Given the description of an element on the screen output the (x, y) to click on. 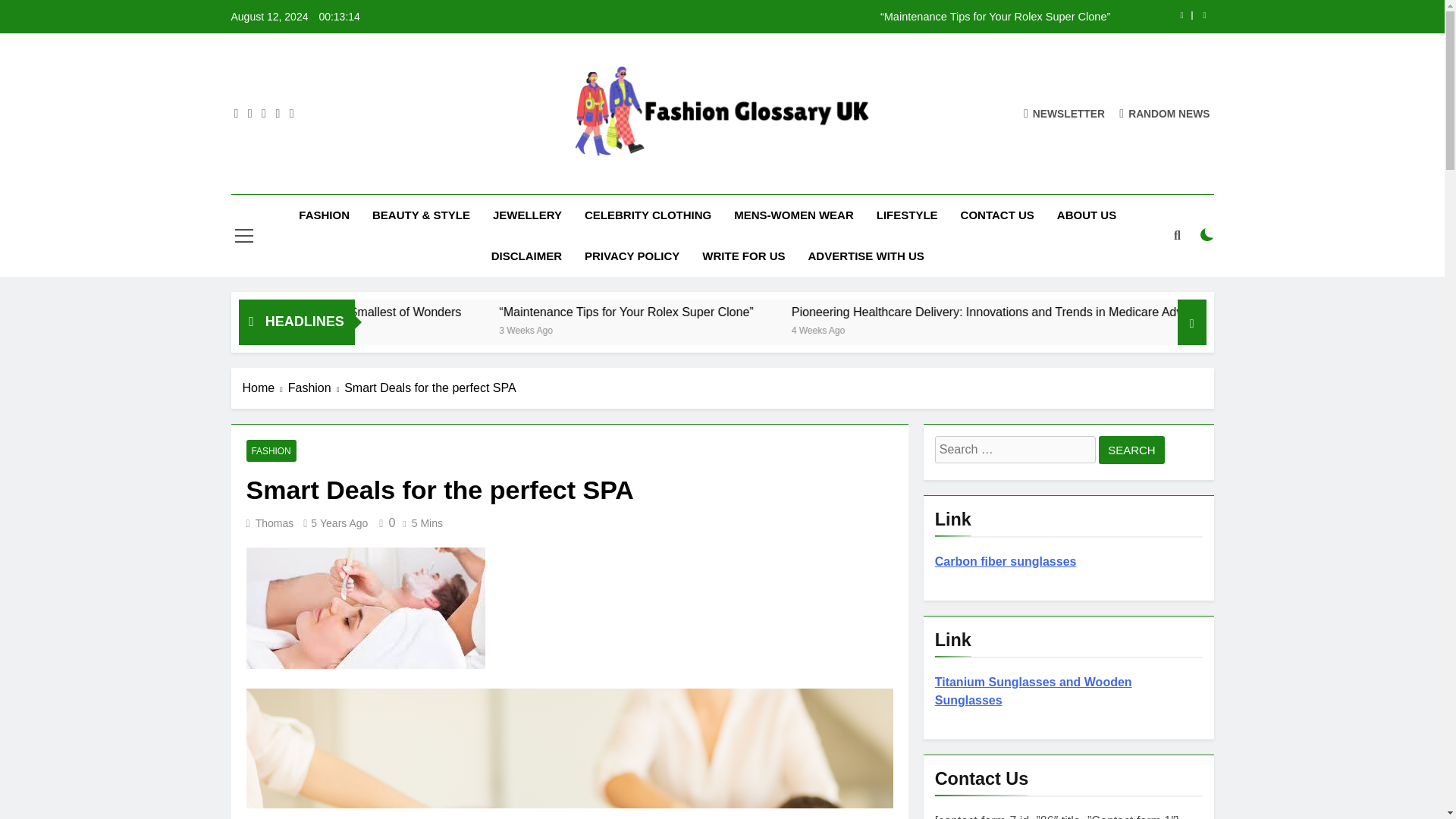
MENS-WOMEN WEAR (793, 214)
LIFESTYLE (906, 214)
Search (1131, 449)
Search (1131, 449)
FASHION (323, 214)
WRITE FOR US (743, 255)
ABOUT US (1085, 214)
DISCLAIMER (526, 255)
CONTACT US (997, 214)
PRIVACY POLICY (631, 255)
